Given the description of an element on the screen output the (x, y) to click on. 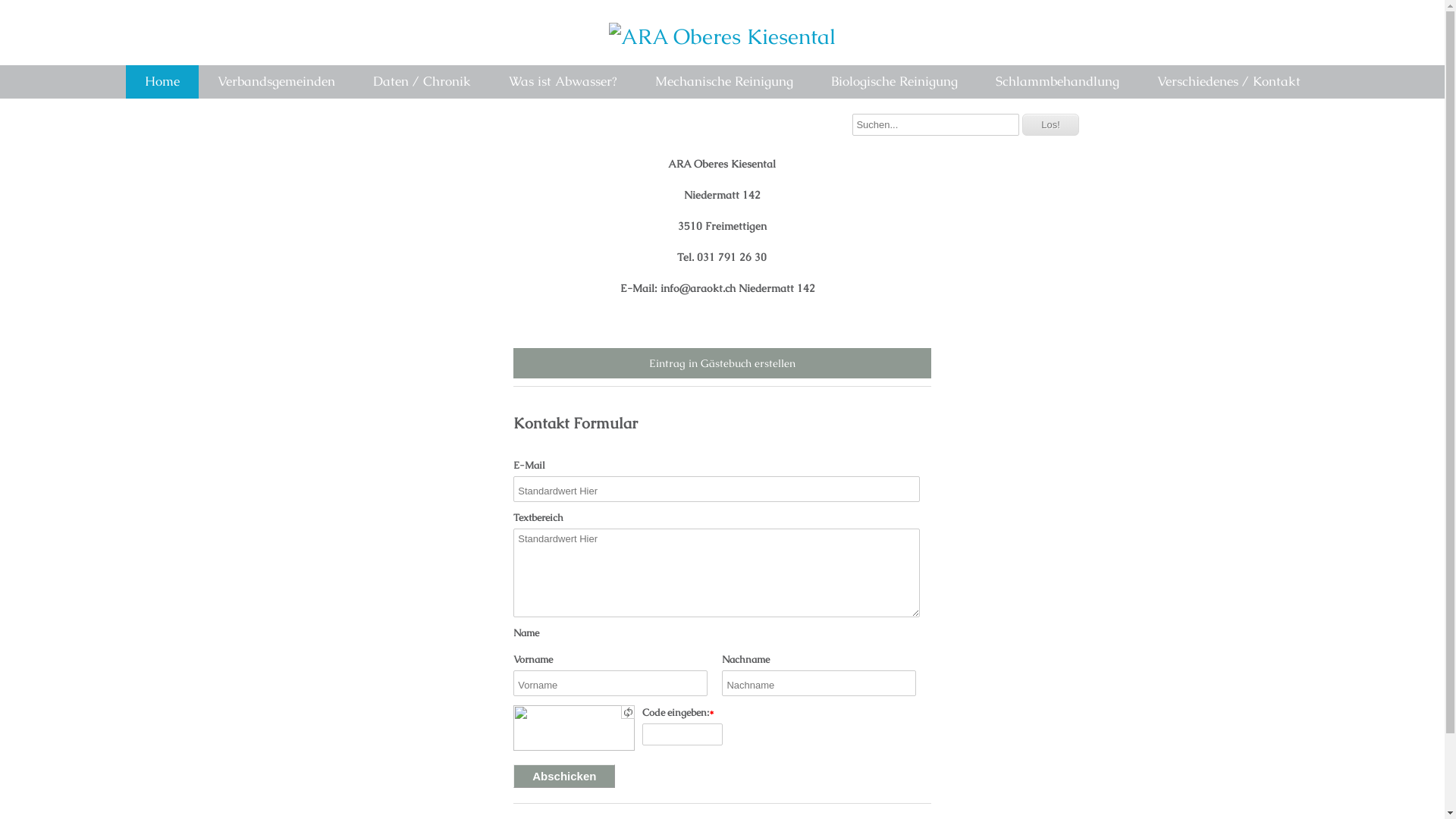
Abschicken Element type: text (564, 775)
Los! Element type: text (1050, 124)
Was ist Abwasser? Element type: text (562, 81)
Schlammbehandlung Element type: text (1057, 81)
Mechanische Reinigung Element type: text (723, 81)
Verschiedenes / Kontakt Element type: text (1227, 81)
Daten / Chronik Element type: text (421, 81)
Reload Element type: text (627, 711)
Biologische Reinigung Element type: text (893, 81)
Verbandsgemeinden Element type: text (276, 81)
Home Element type: text (161, 81)
